Given the description of an element on the screen output the (x, y) to click on. 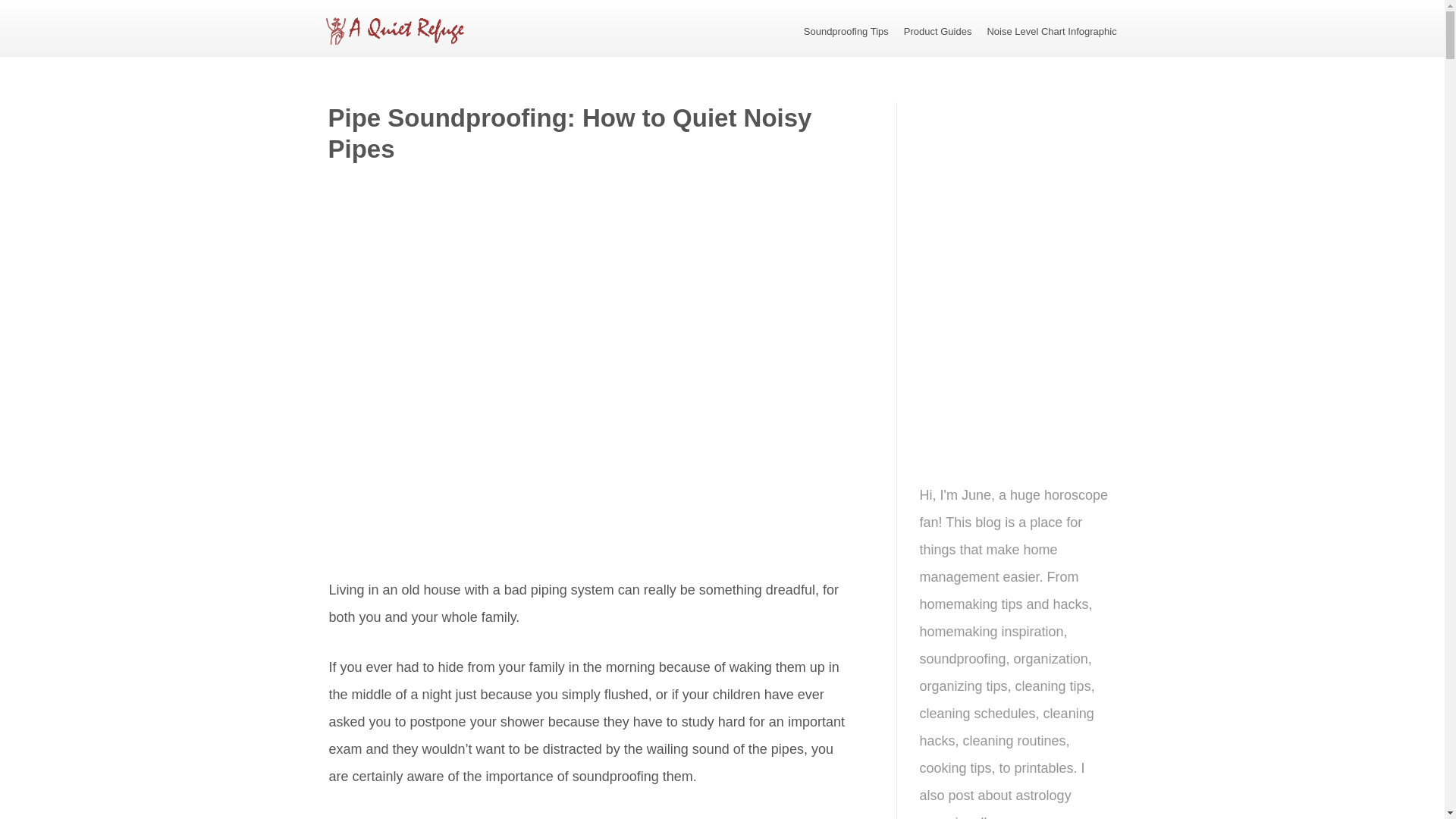
Soundproofing Tips (845, 30)
Product Guides (938, 30)
Noise Level Chart Infographic (1051, 30)
